Given the description of an element on the screen output the (x, y) to click on. 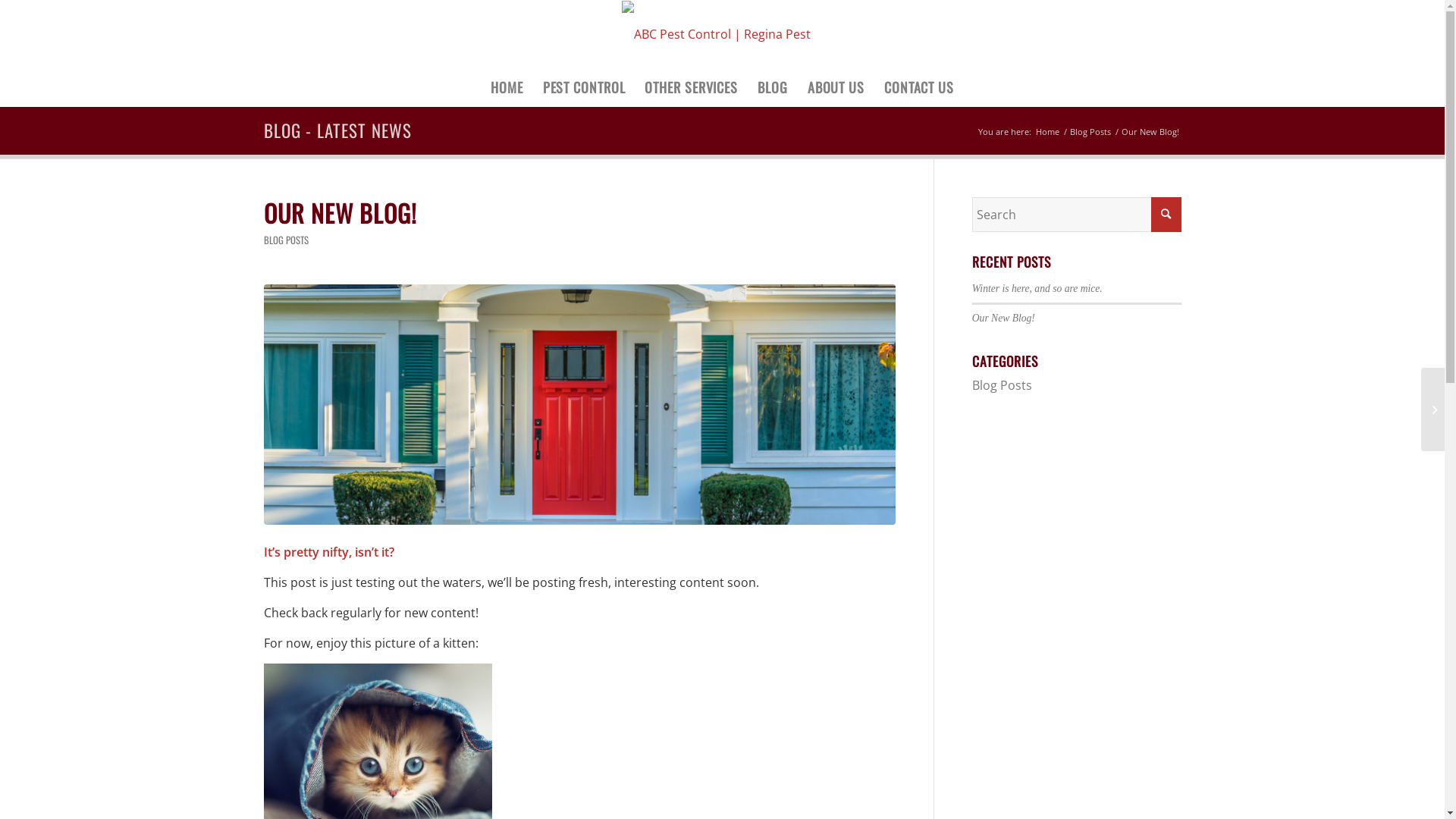
BLOG Element type: text (772, 87)
OTHER SERVICES Element type: text (690, 87)
PEST CONTROL Element type: text (584, 87)
Blog Posts Element type: text (1090, 131)
Our New Blog! Element type: text (1003, 317)
HOME Element type: text (506, 87)
CONTACT US Element type: text (918, 87)
BLOG POSTS Element type: text (285, 239)
ABOUT US Element type: text (835, 87)
BLOG - LATEST NEWS Element type: text (337, 130)
home-front-door Element type: hover (579, 404)
Winter is here, and so are mice. Element type: text (1037, 288)
Home Element type: text (1046, 131)
Blog Posts Element type: text (1002, 384)
